Given the description of an element on the screen output the (x, y) to click on. 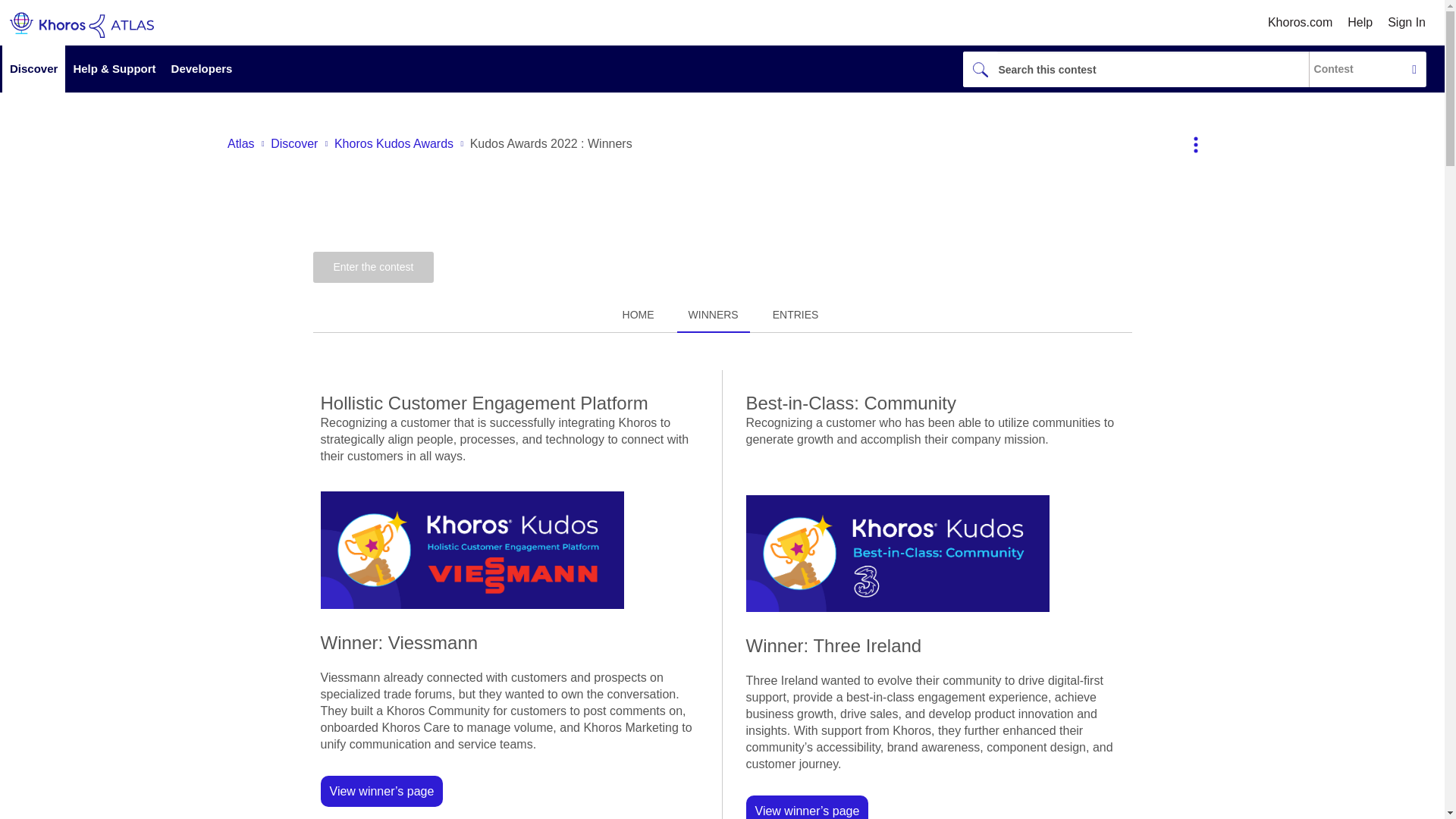
Search (979, 68)
Search (979, 68)
Search (1134, 68)
Discover (33, 68)
Help (1360, 21)
Khoros.com (1300, 22)
Show option menu (1196, 144)
Developers (201, 68)
Sign In (1406, 21)
Search Granularity (1359, 68)
